Given the description of an element on the screen output the (x, y) to click on. 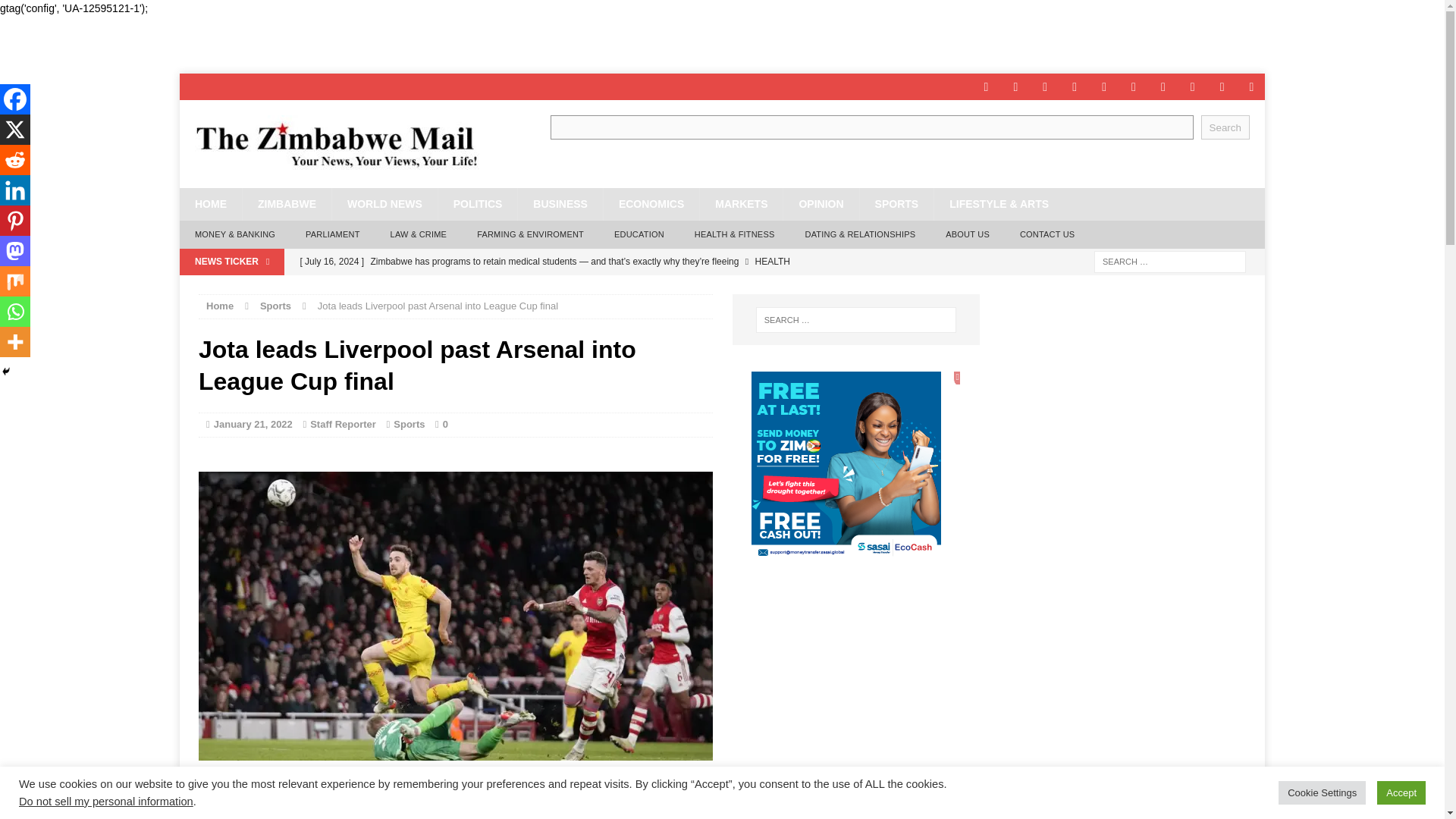
The Zimbabwe Mail (350, 143)
WORLD NEWS (384, 204)
EDUCATION (638, 234)
HOME (210, 204)
PARLIAMENT (331, 234)
MARKETS (740, 204)
BUSINESS (559, 204)
ZIMBABWE (286, 204)
Search (1225, 127)
ECONOMICS (650, 204)
OPINION (821, 204)
Mpilo Hospital faces surge in child deaths (589, 287)
SPORTS (896, 204)
POLITICS (478, 204)
